Given the description of an element on the screen output the (x, y) to click on. 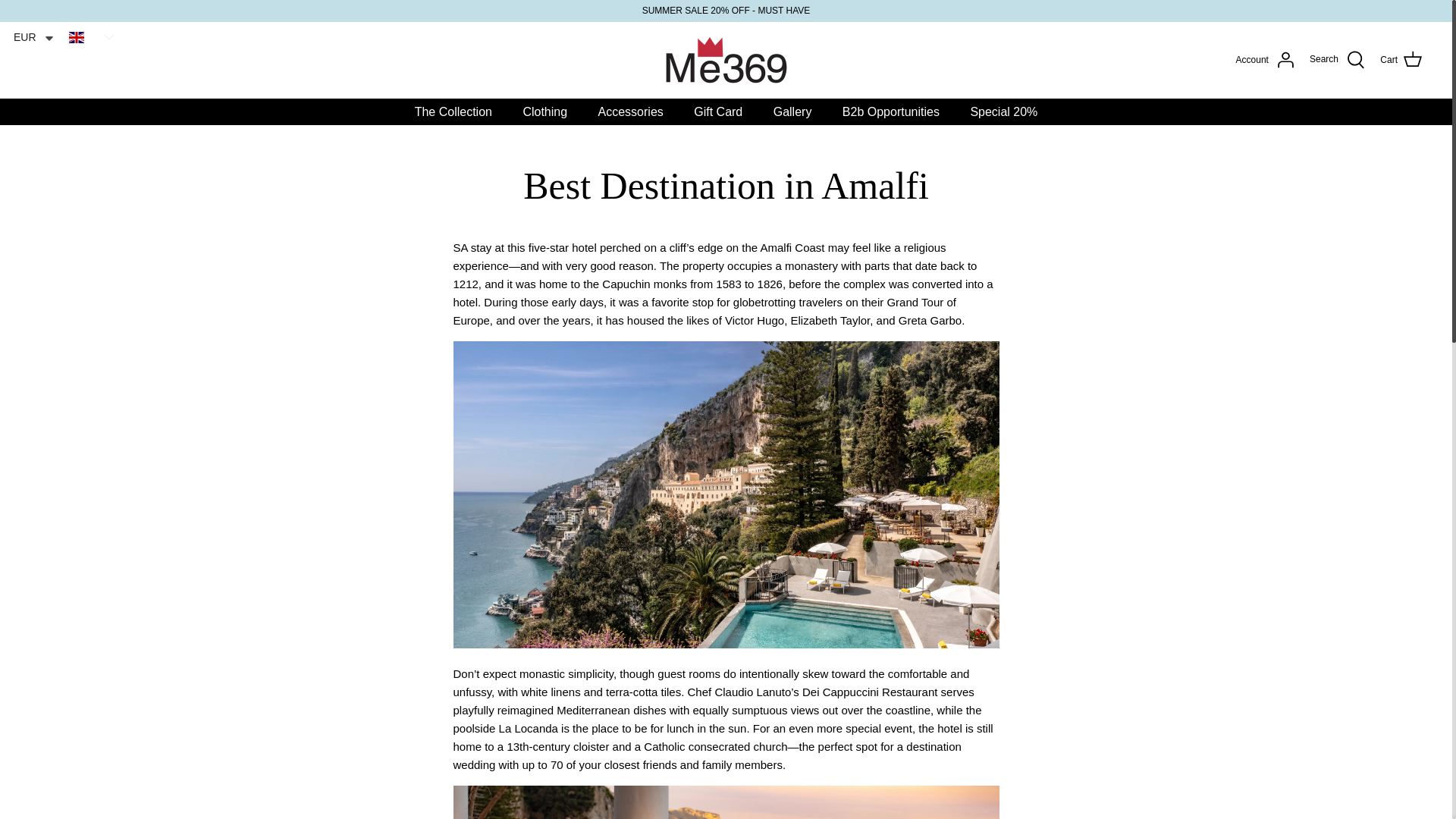
B2b Opportunities (890, 112)
Gallery (792, 112)
Search (1336, 59)
Cart (1401, 59)
Account (1265, 59)
Accessories (631, 112)
Gift Card (717, 112)
Clothing (544, 112)
Me369 (726, 59)
The Collection (453, 112)
